Given the description of an element on the screen output the (x, y) to click on. 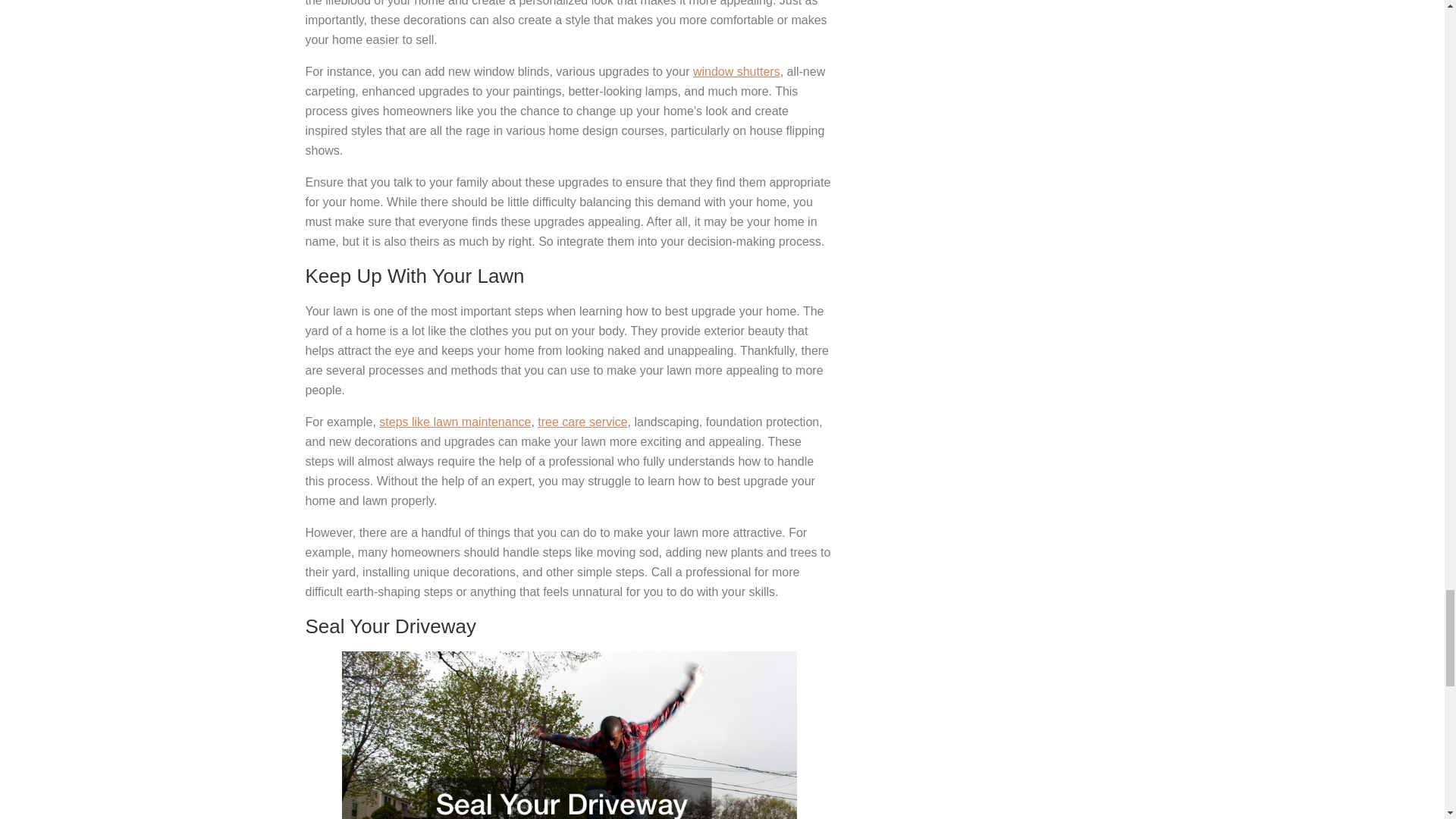
window shutters (736, 71)
tree care service (582, 421)
steps like lawn maintenance (454, 421)
